Given the description of an element on the screen output the (x, y) to click on. 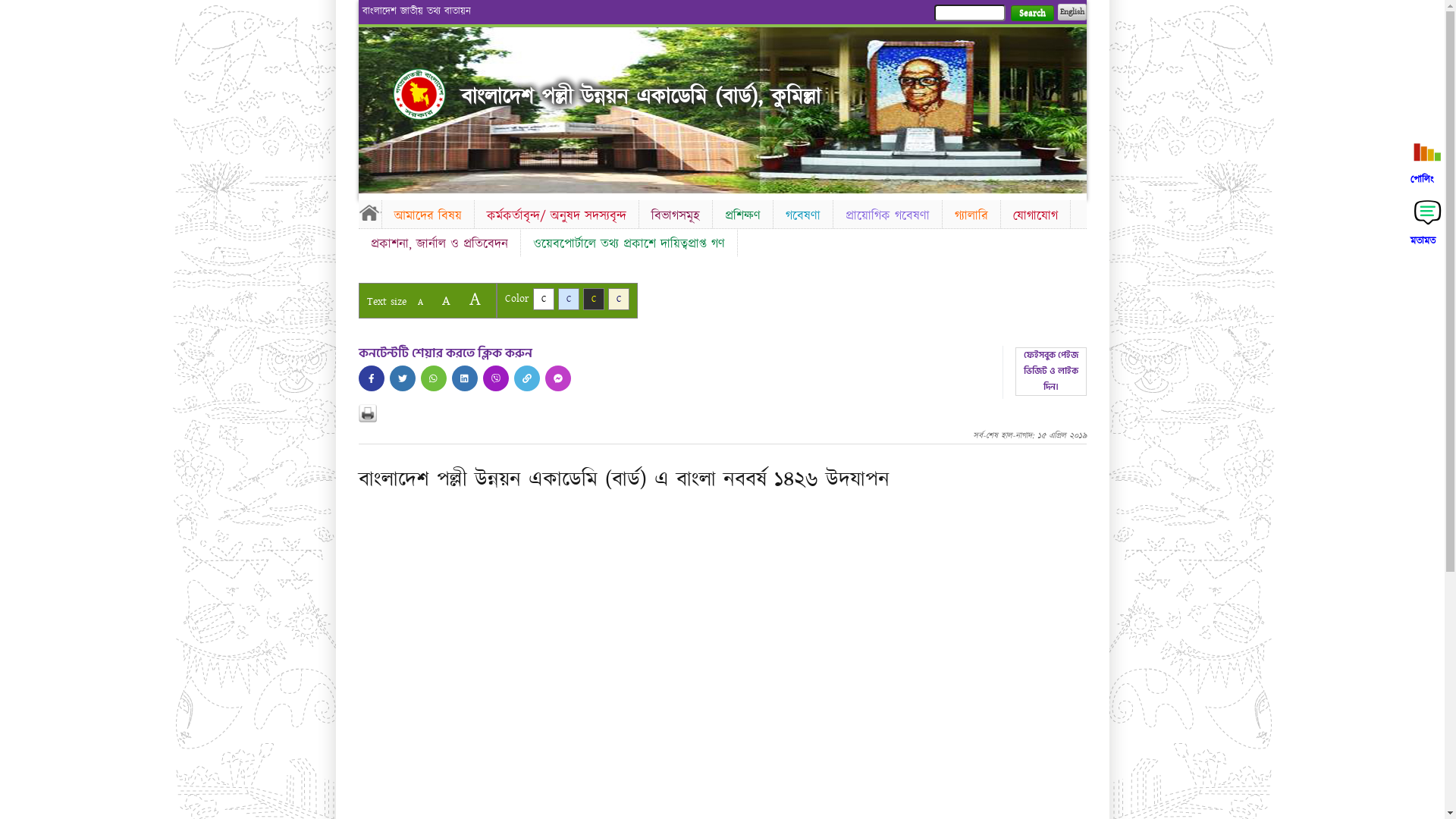
Home Element type: hover (368, 211)
C Element type: text (568, 299)
C Element type: text (592, 299)
C Element type: text (618, 299)
C Element type: text (542, 299)
A Element type: text (419, 301)
Search Element type: text (1031, 13)
A Element type: text (474, 298)
Home Element type: hover (418, 93)
A Element type: text (445, 300)
English Element type: text (1071, 11)
